Given the description of an element on the screen output the (x, y) to click on. 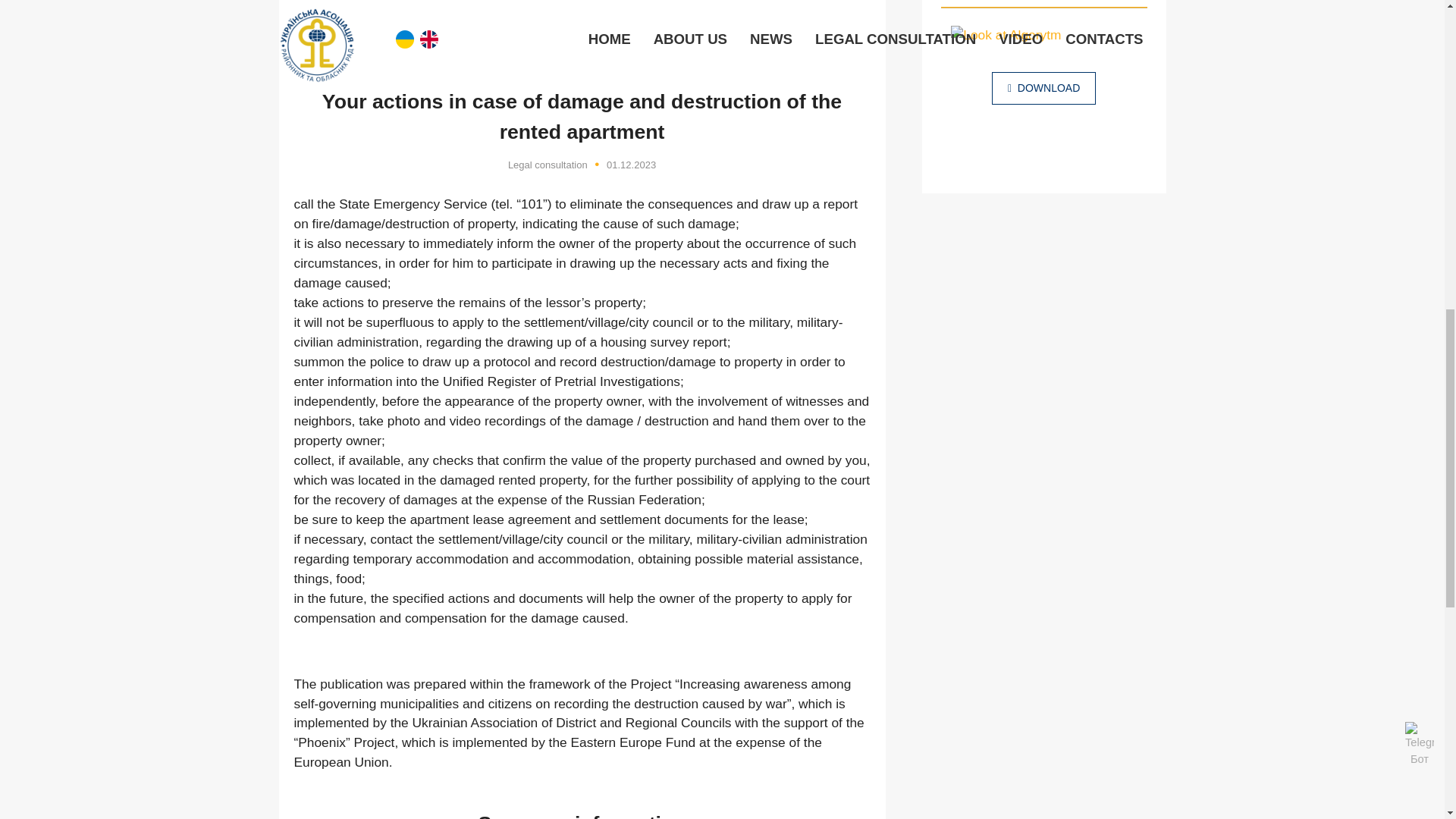
  DOWNLOAD (1043, 88)
01.12.2023 (631, 164)
Legal consultation (548, 164)
